Given the description of an element on the screen output the (x, y) to click on. 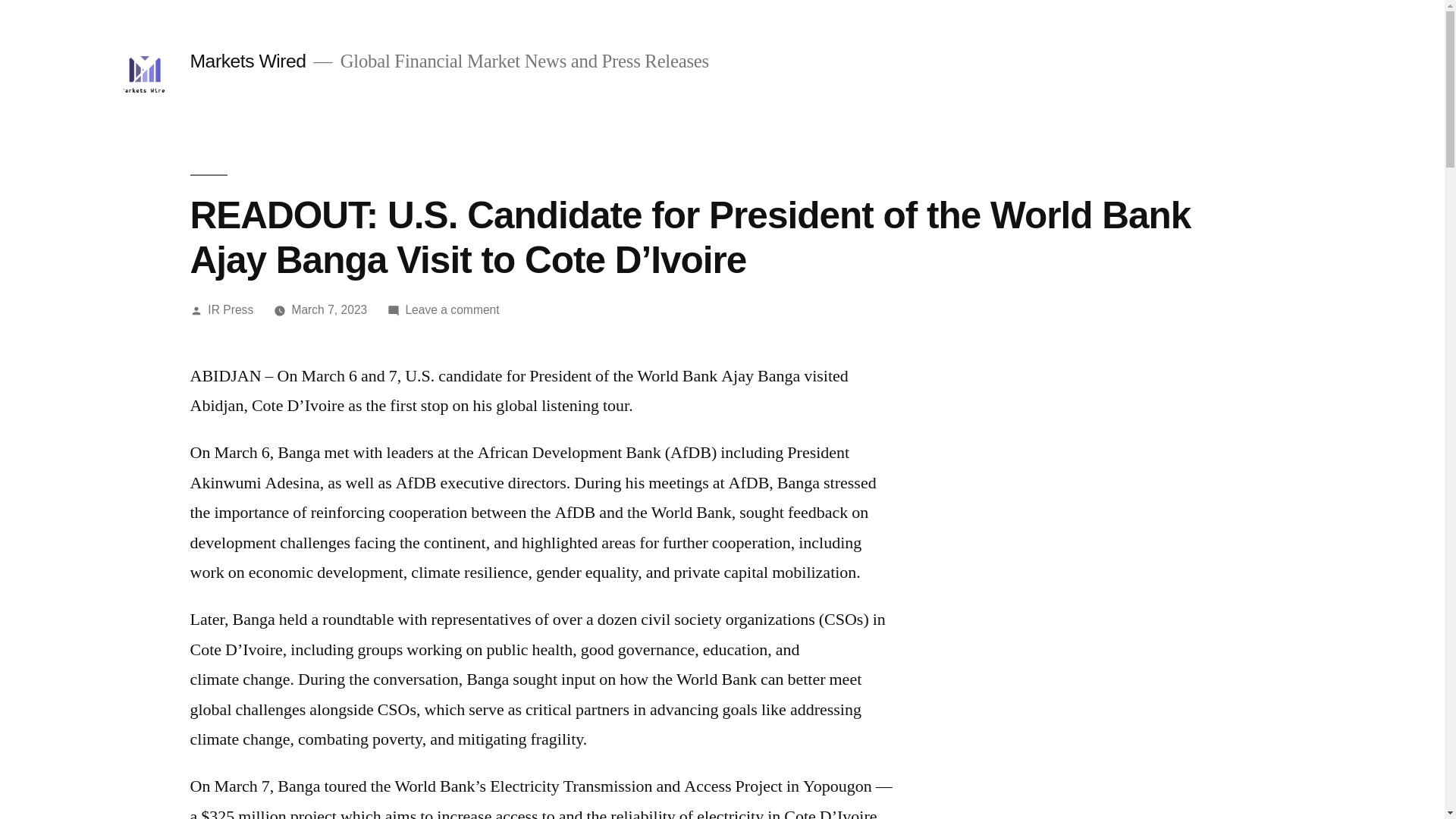
IR Press (230, 309)
March 7, 2023 (328, 309)
Markets Wired (247, 60)
